Given the description of an element on the screen output the (x, y) to click on. 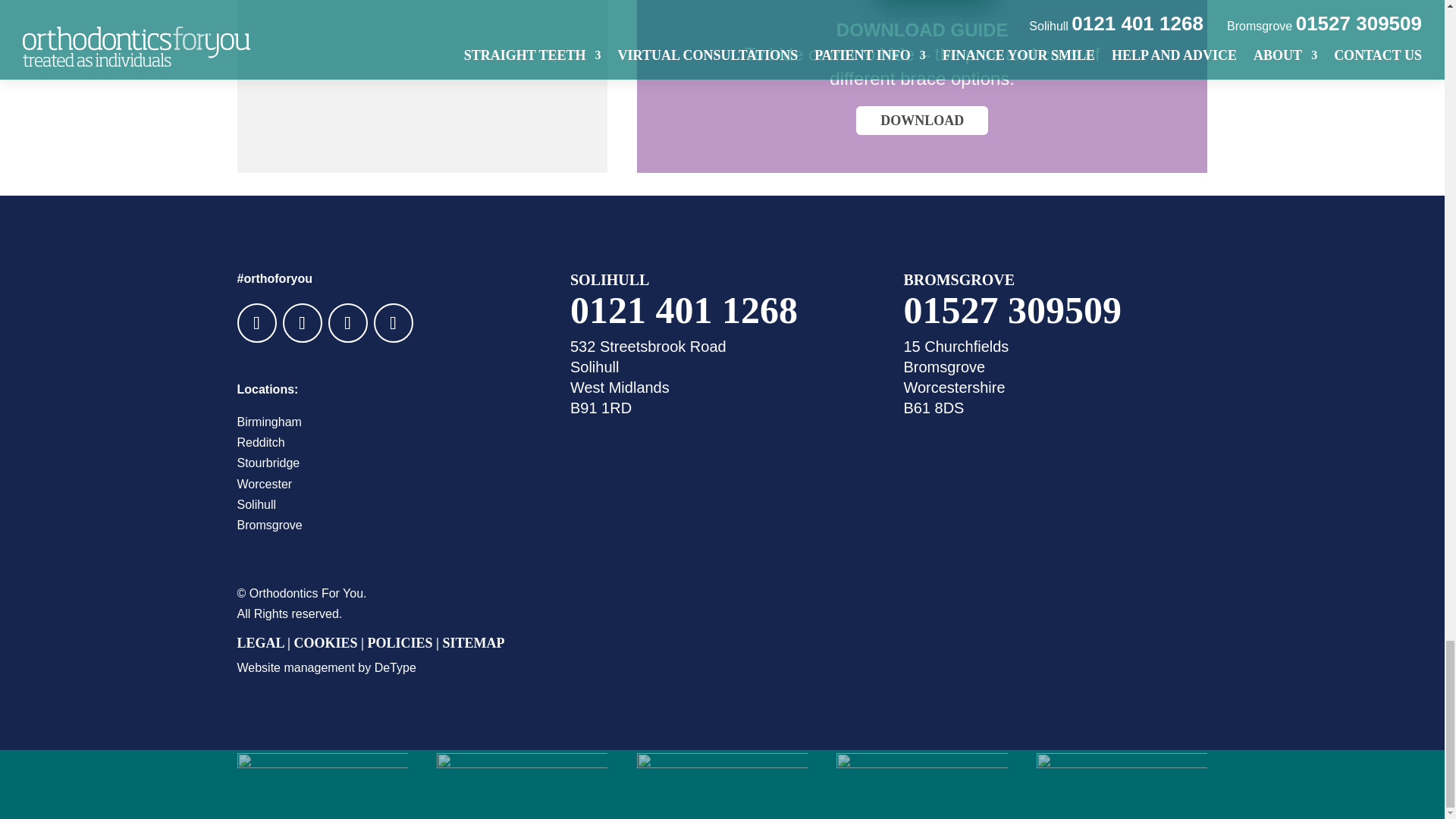
CQC-Logo-White (921, 784)
Follow on Youtube (346, 323)
BDA-good-practice-white (521, 784)
Follow on Facebook (255, 323)
Follow on Twitter (301, 323)
NHS-Logo-White (321, 784)
blos-logo-white (722, 784)
BOS-logo-white (1121, 784)
Follow on Instagram (392, 323)
